Given the description of an element on the screen output the (x, y) to click on. 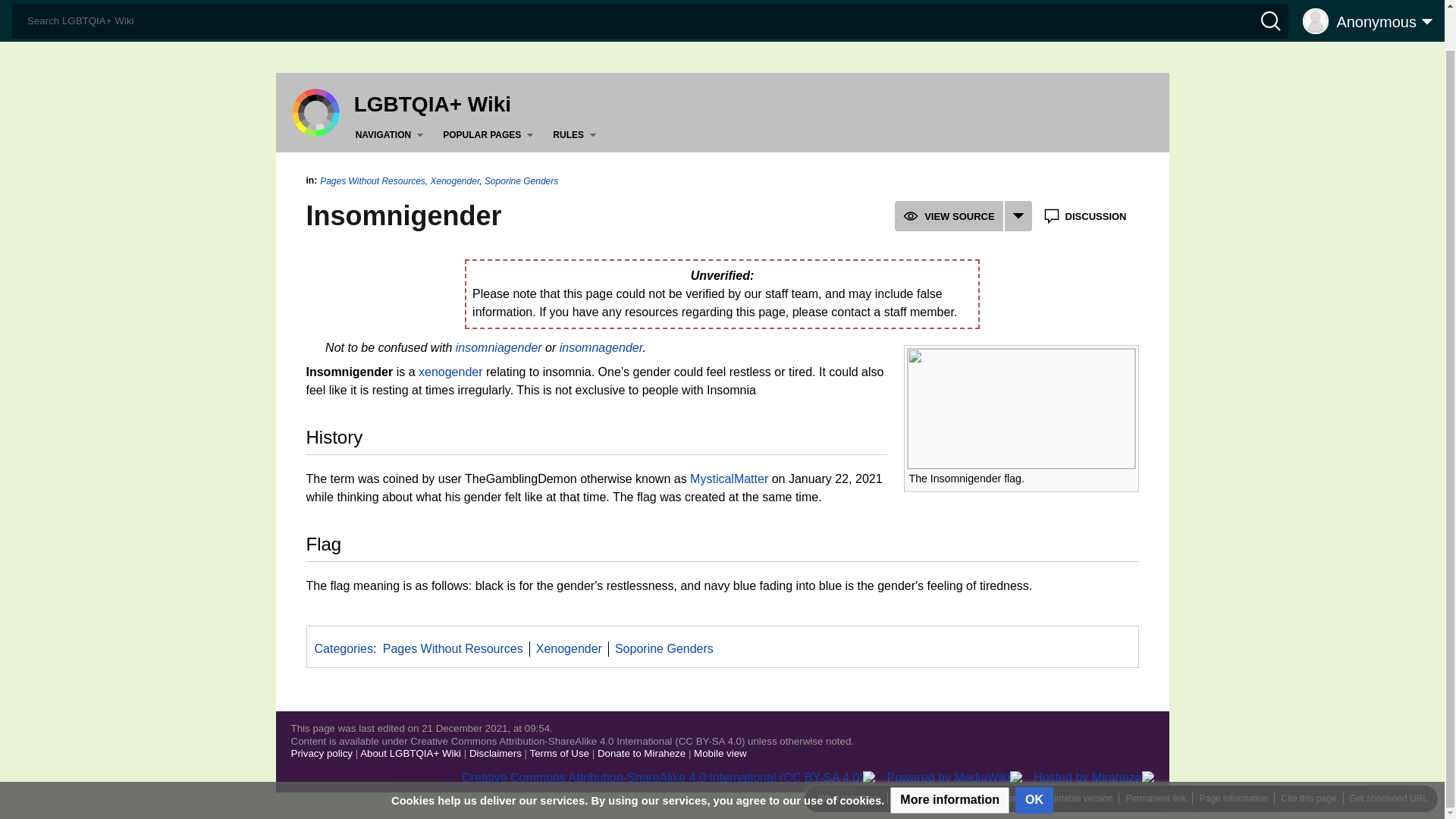
Insomniagender (498, 347)
Special:Categories (343, 648)
POPULAR PAGES (490, 135)
Xenogender (451, 371)
User:MysticalMatter (729, 478)
Insomnagender (601, 347)
Visit the main page (315, 111)
RULES (577, 135)
NAVIGATION (392, 135)
Category:Pages Without Resources (452, 648)
